Given the description of an element on the screen output the (x, y) to click on. 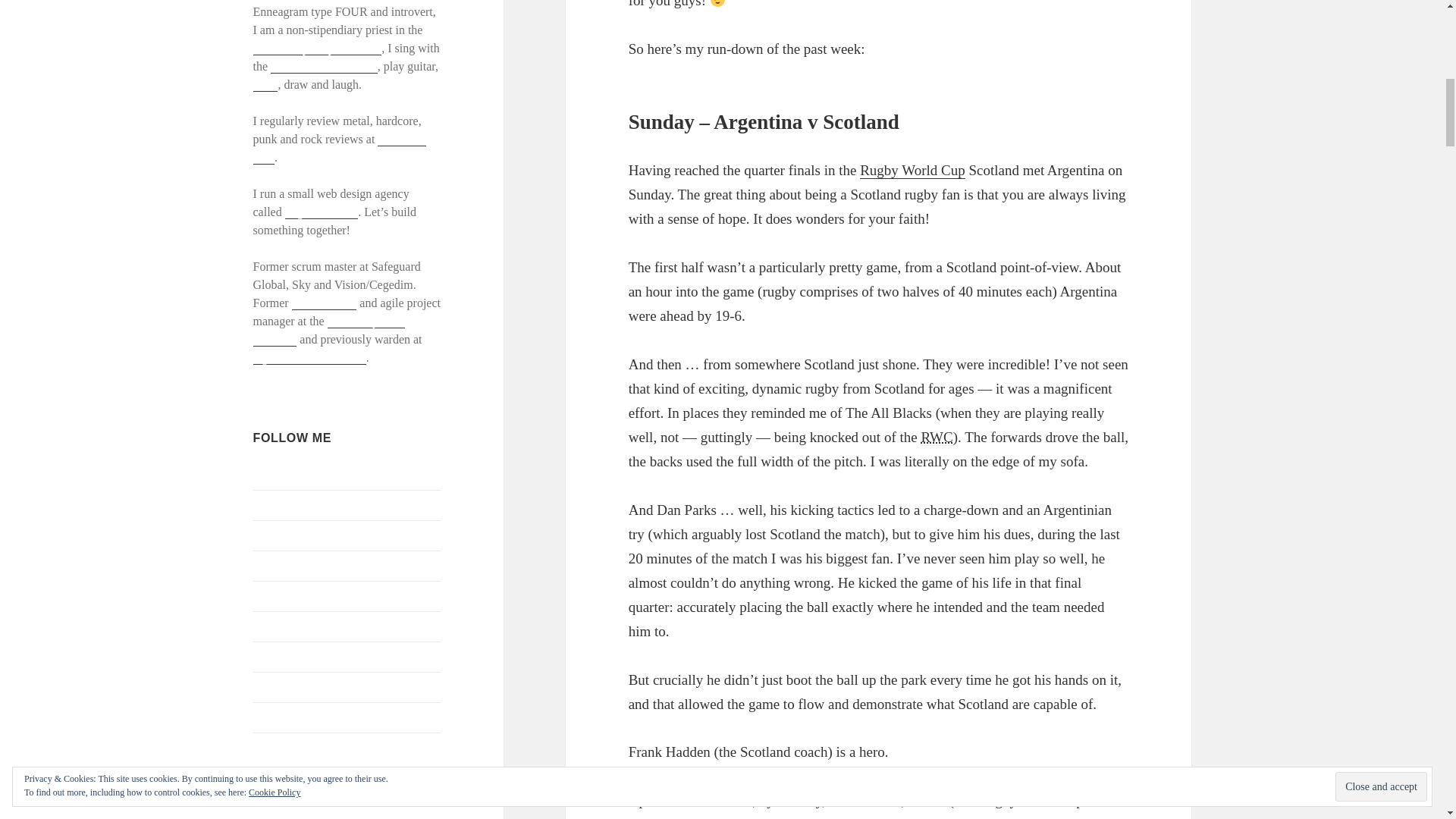
195 metal CDs (339, 148)
write (265, 84)
web architect (324, 303)
GitHub (271, 534)
Slideshare (278, 686)
Bluesky (272, 473)
RWC 2007 (912, 170)
Agnes Blackadder Hall (309, 357)
Instagram (277, 564)
NYCGB alumni choir (323, 66)
Mastodon.scot (288, 625)
University of St Andrews (328, 330)
LinkedIn (275, 594)
Rugby World Cup (936, 437)
Facebook (276, 504)
